Given the description of an element on the screen output the (x, y) to click on. 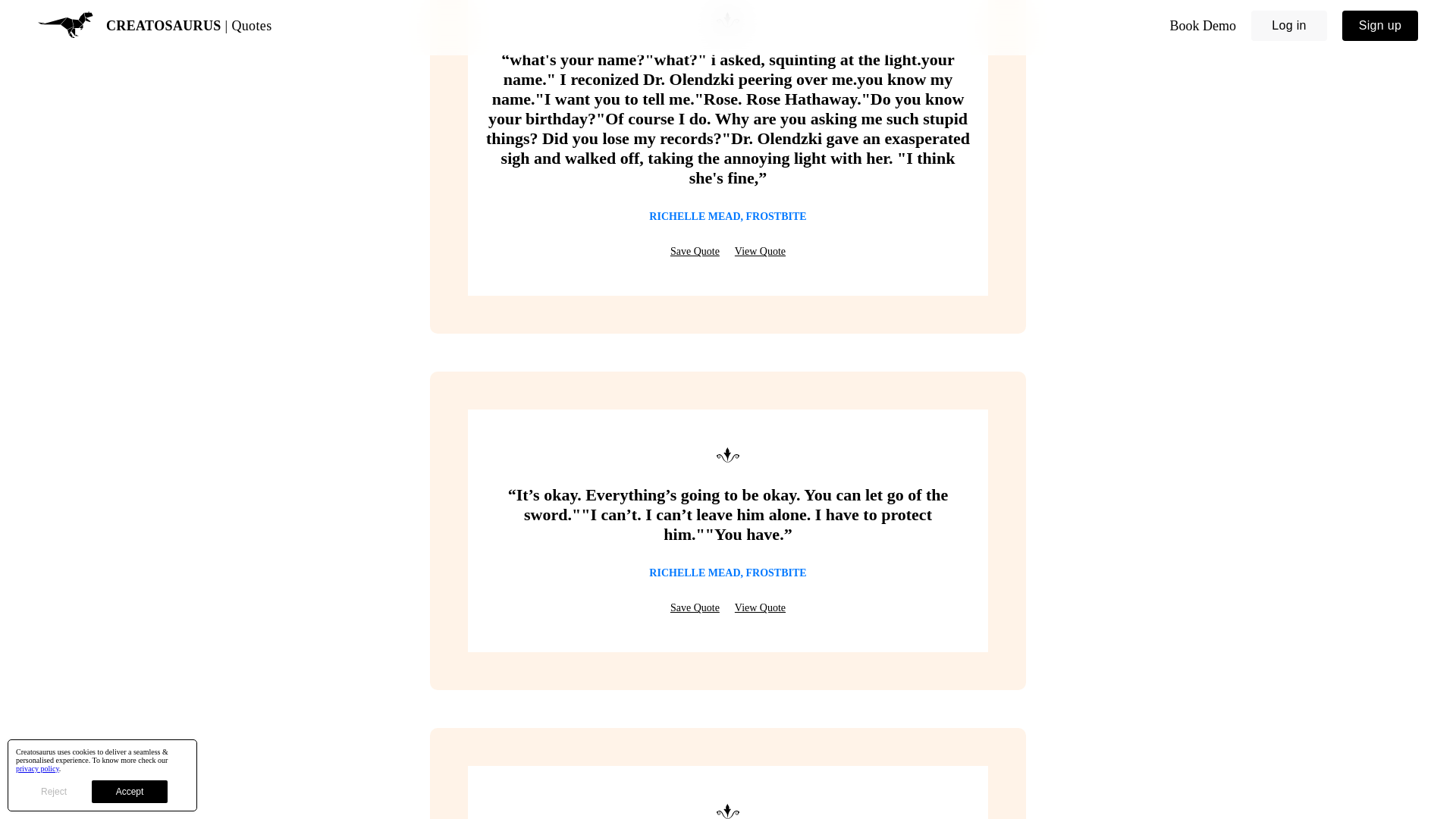
RICHELLE MEAD, FROSTBITE (727, 216)
RICHELLE MEAD, FROSTBITE (727, 573)
View Quote (760, 607)
View Quote (760, 251)
